Given the description of an element on the screen output the (x, y) to click on. 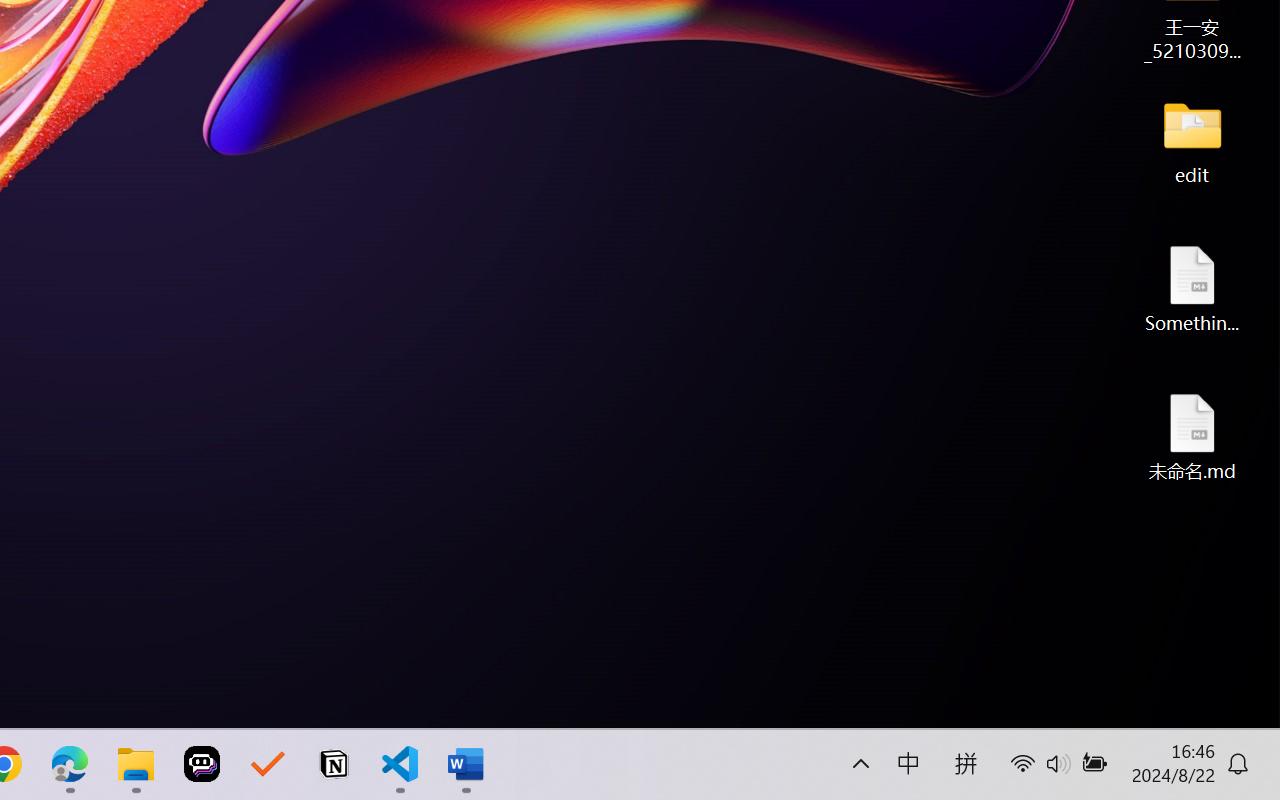
Something.md (1192, 288)
